Given the description of an element on the screen output the (x, y) to click on. 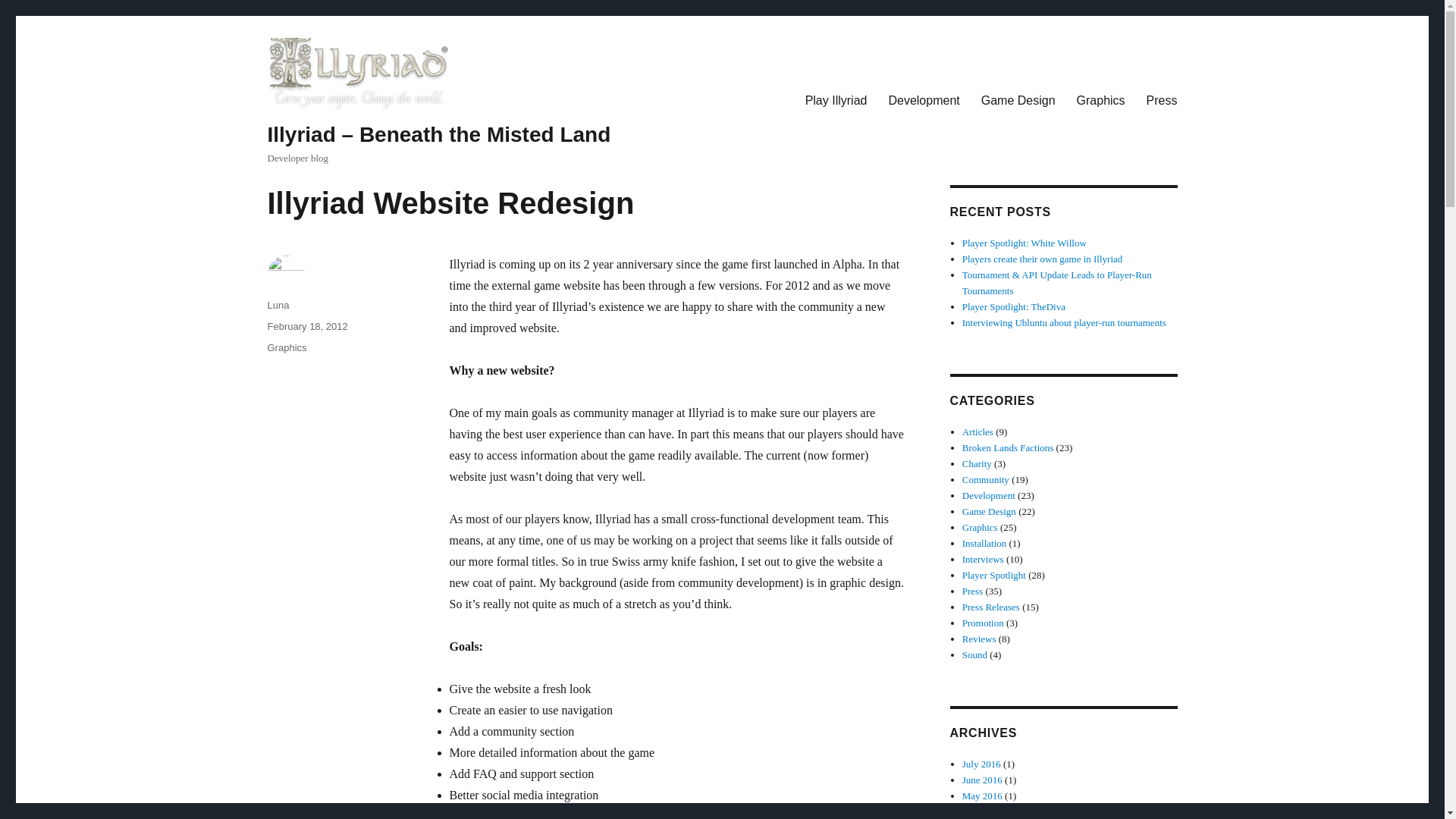
Interviews (983, 559)
Graphics (1100, 100)
Luna (277, 305)
Graphics (979, 527)
Play Illyriad (835, 100)
Development (923, 100)
Community (985, 479)
Player Spotlight: White Willow (1024, 242)
Reviews (978, 638)
Press (972, 591)
